Given the description of an element on the screen output the (x, y) to click on. 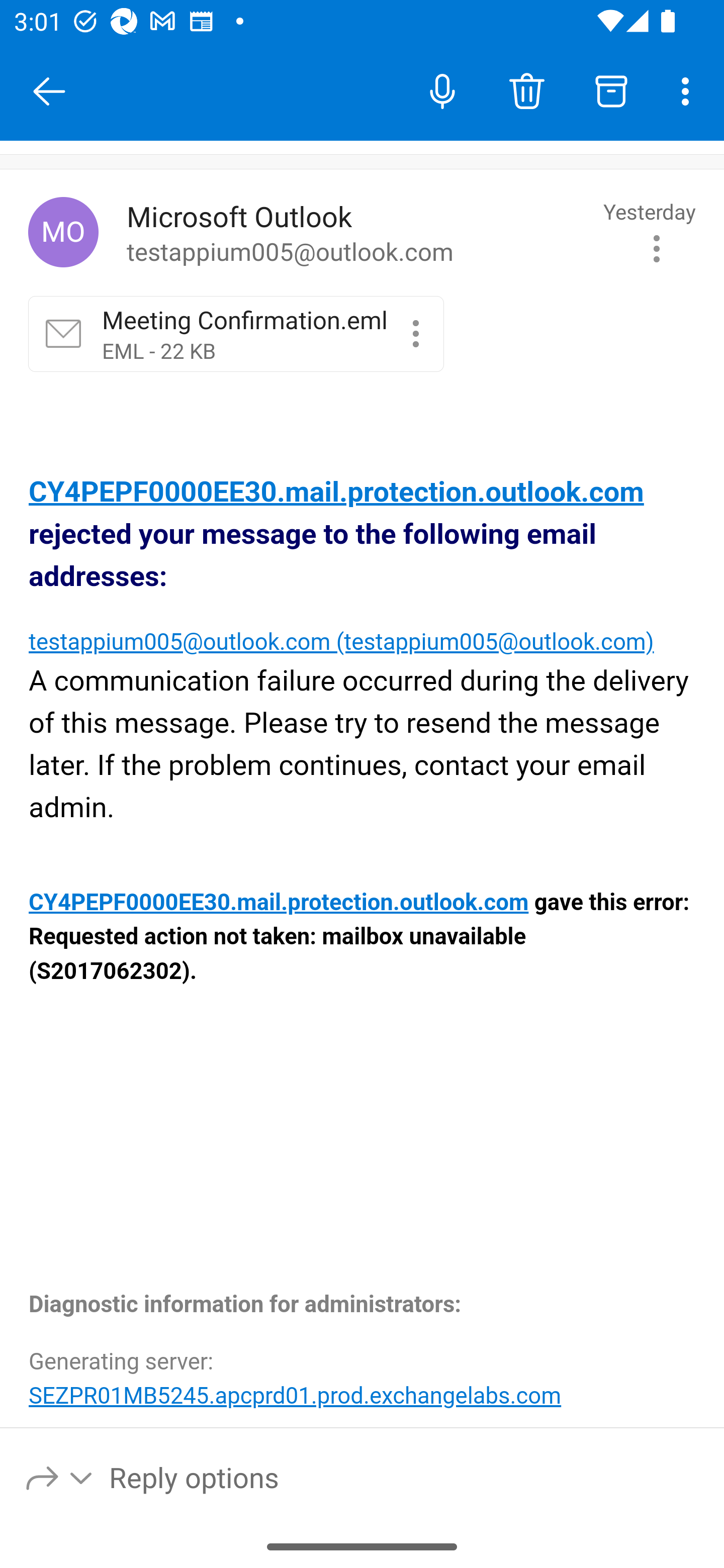
Close (49, 91)
Delete (526, 90)
Archive (611, 90)
More options (688, 90)
Microsoft Outlook
to testappium005@outlook.com (357, 232)
Message actions (656, 248)
Meeting Confirmation.eml (415, 333)
CY4PEPF0000EE30.mail.protection.outlook.com (336, 492)
CY4PEPF0000EE30.mail.protection.outlook.com (278, 903)
SEZPR01MB5245.apcprd01.prod.exchangelabs.com (294, 1395)
Reply options (59, 1476)
